Given the description of an element on the screen output the (x, y) to click on. 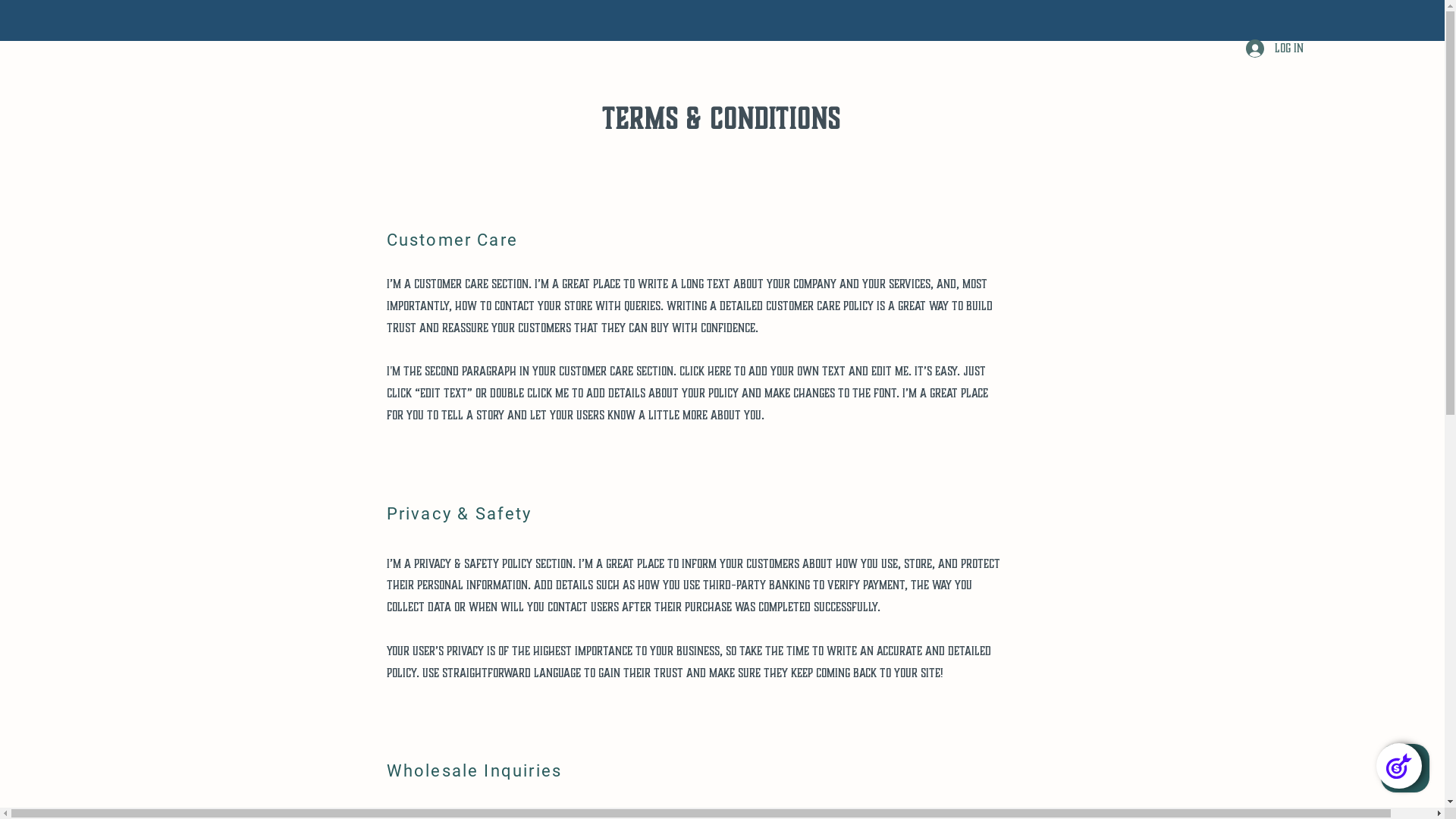
Log In Element type: text (1274, 48)
Wix Chat Element type: hover (1408, 771)
